Given the description of an element on the screen output the (x, y) to click on. 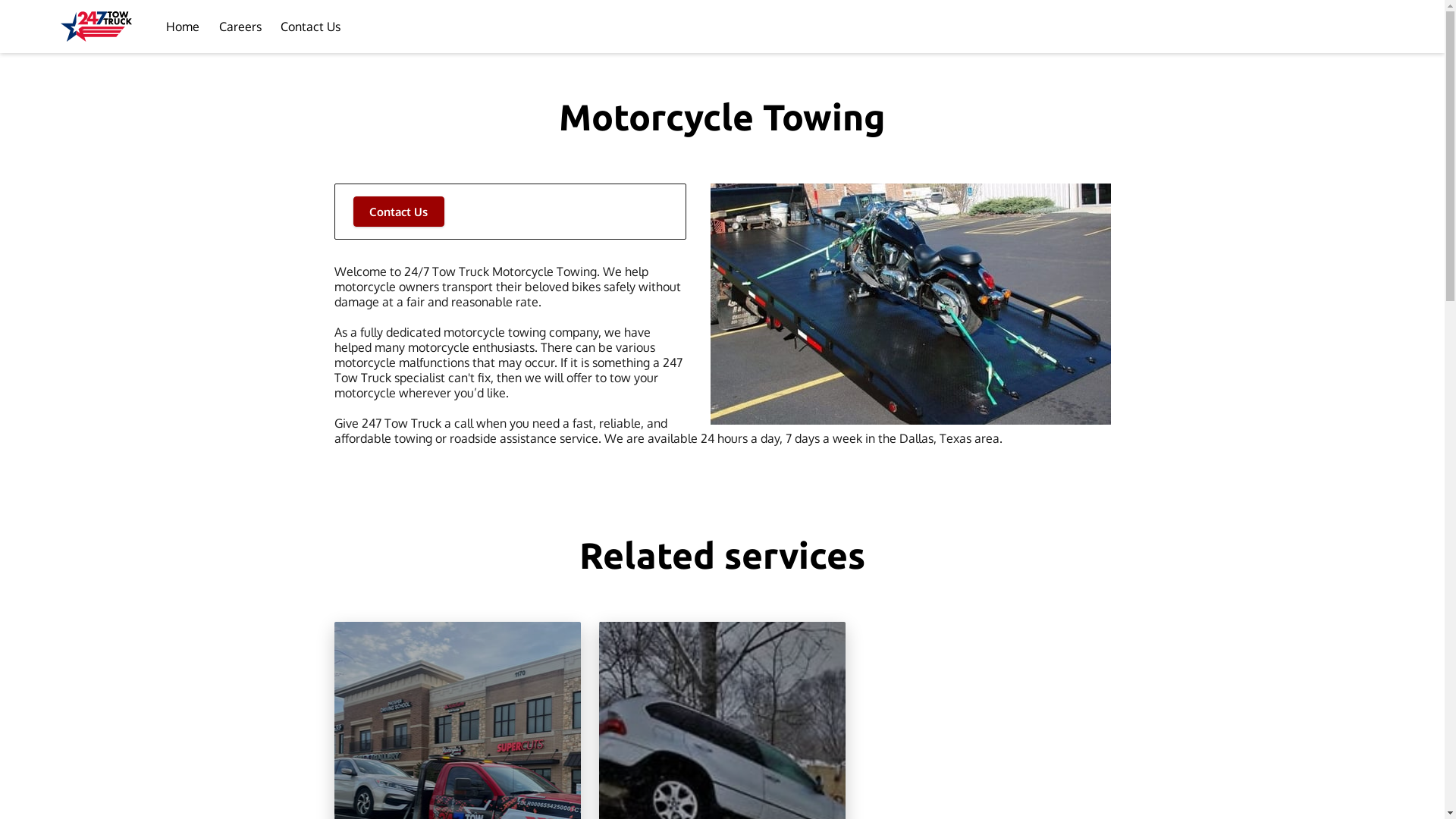
Contact Us Element type: text (310, 26)
Careers Element type: text (240, 26)
Home Element type: text (182, 26)
Contact Us Element type: text (398, 211)
